Given the description of an element on the screen output the (x, y) to click on. 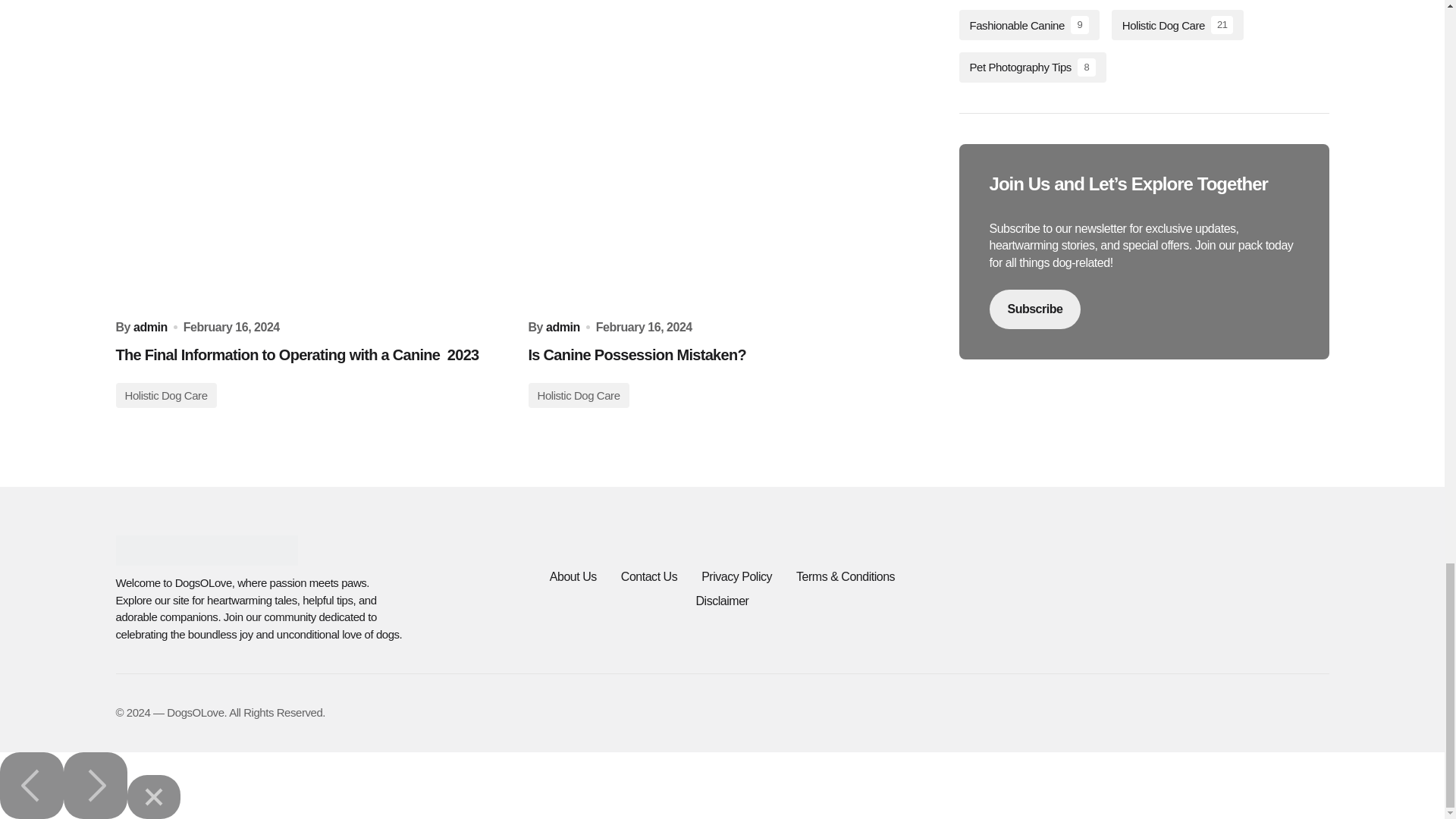
Is Canine Possession Mistaken? (721, 161)
